Given the description of an element on the screen output the (x, y) to click on. 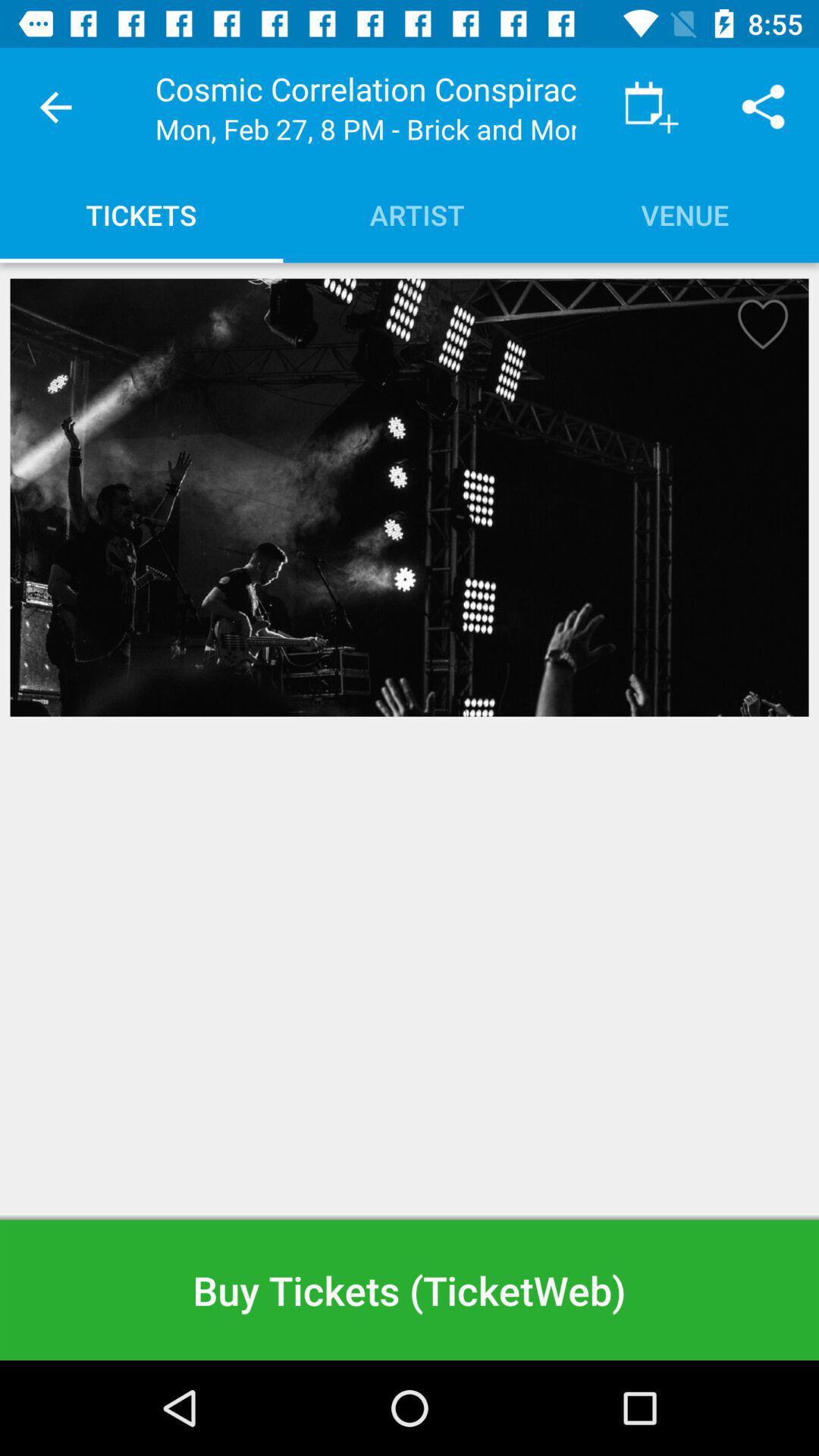
scroll to buy tickets (ticketweb) icon (409, 1289)
